Given the description of an element on the screen output the (x, y) to click on. 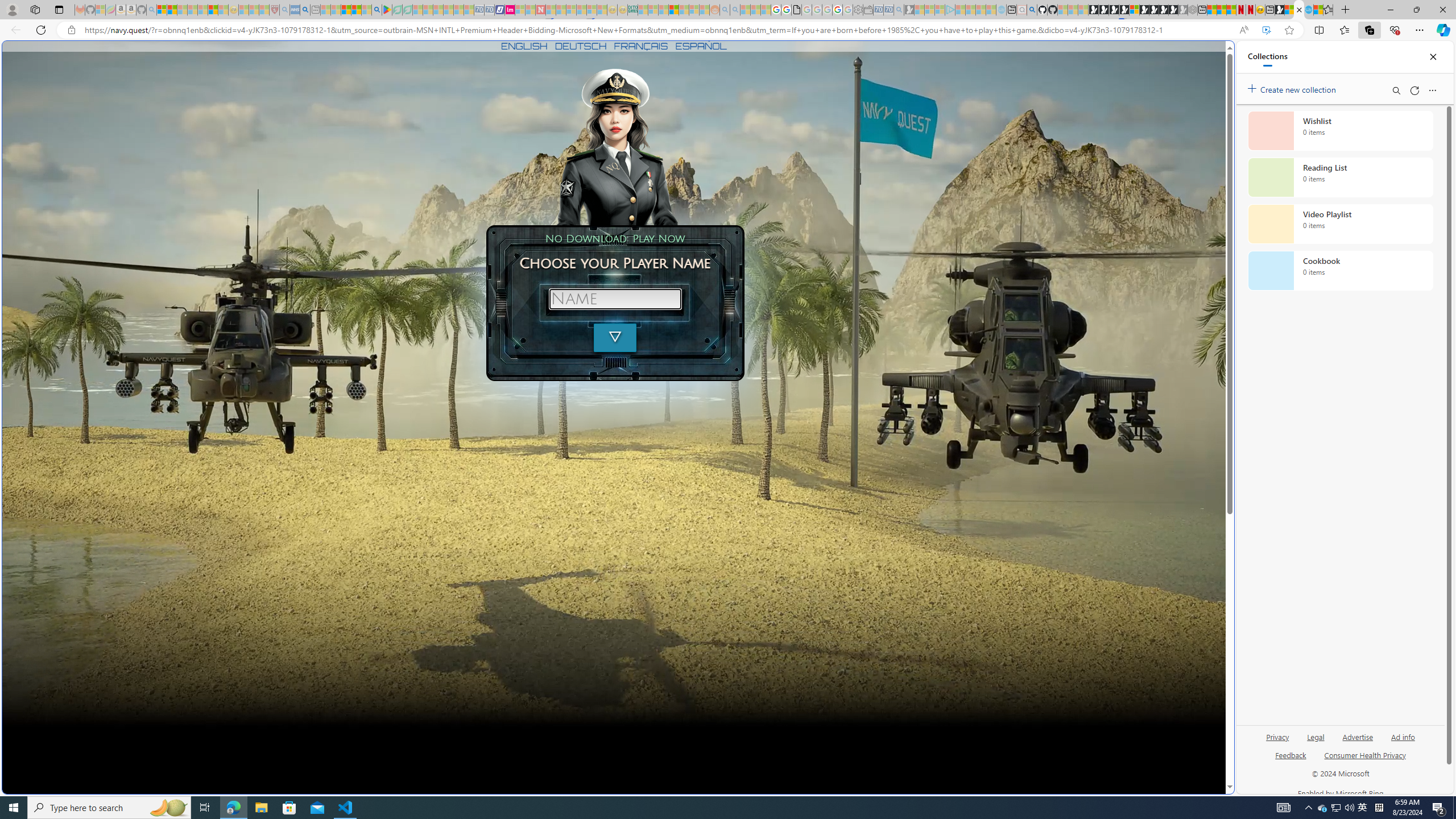
ENGLISH (523, 45)
Name (614, 298)
